Given the description of an element on the screen output the (x, y) to click on. 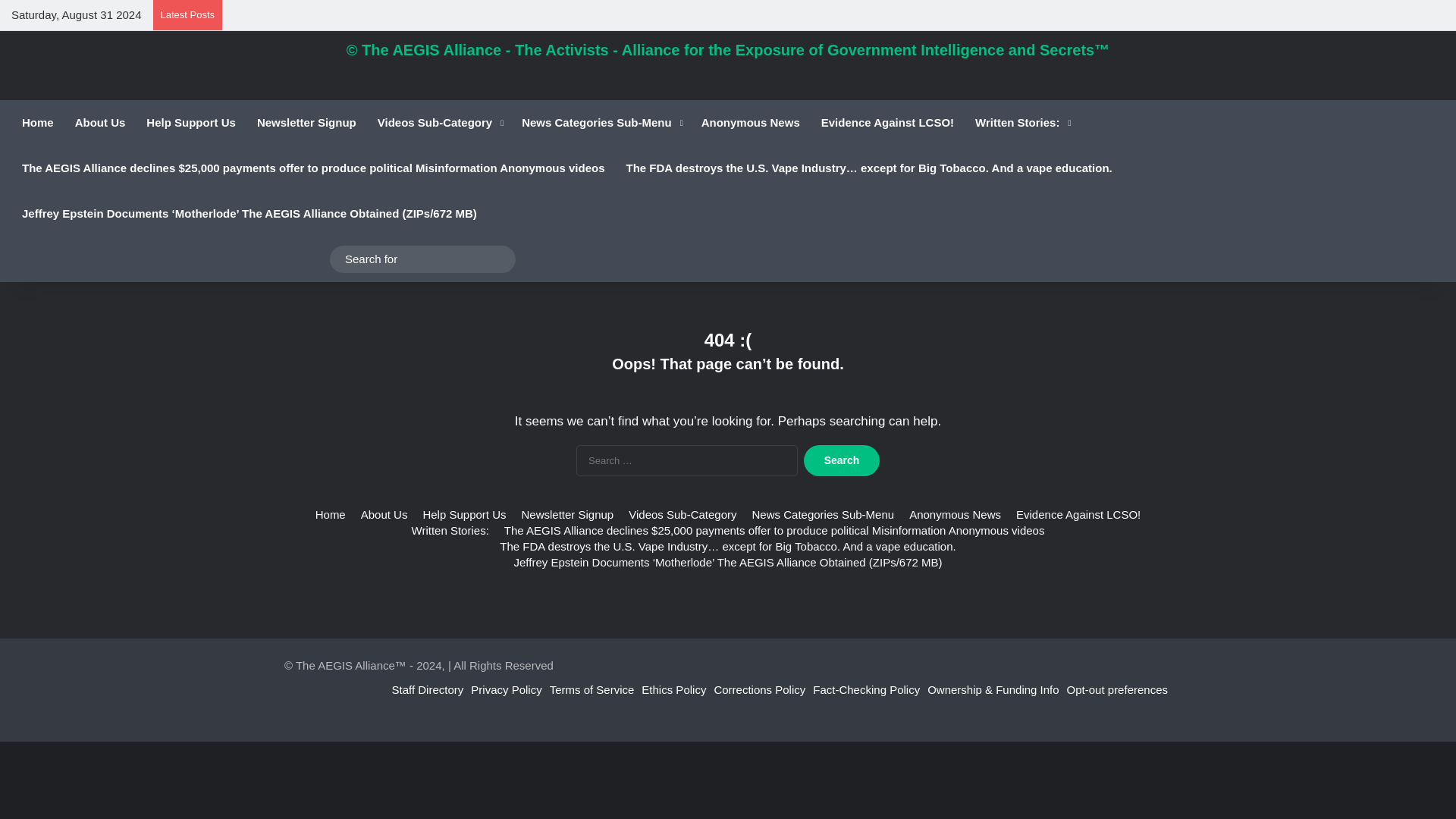
Search for (422, 258)
News Categories Sub-Menu (600, 122)
Newsletter Signup (306, 122)
Search (841, 460)
About Us (100, 122)
Home (37, 122)
Search (841, 460)
Videos Sub-Category (438, 122)
Help Support Us (190, 122)
